Given the description of an element on the screen output the (x, y) to click on. 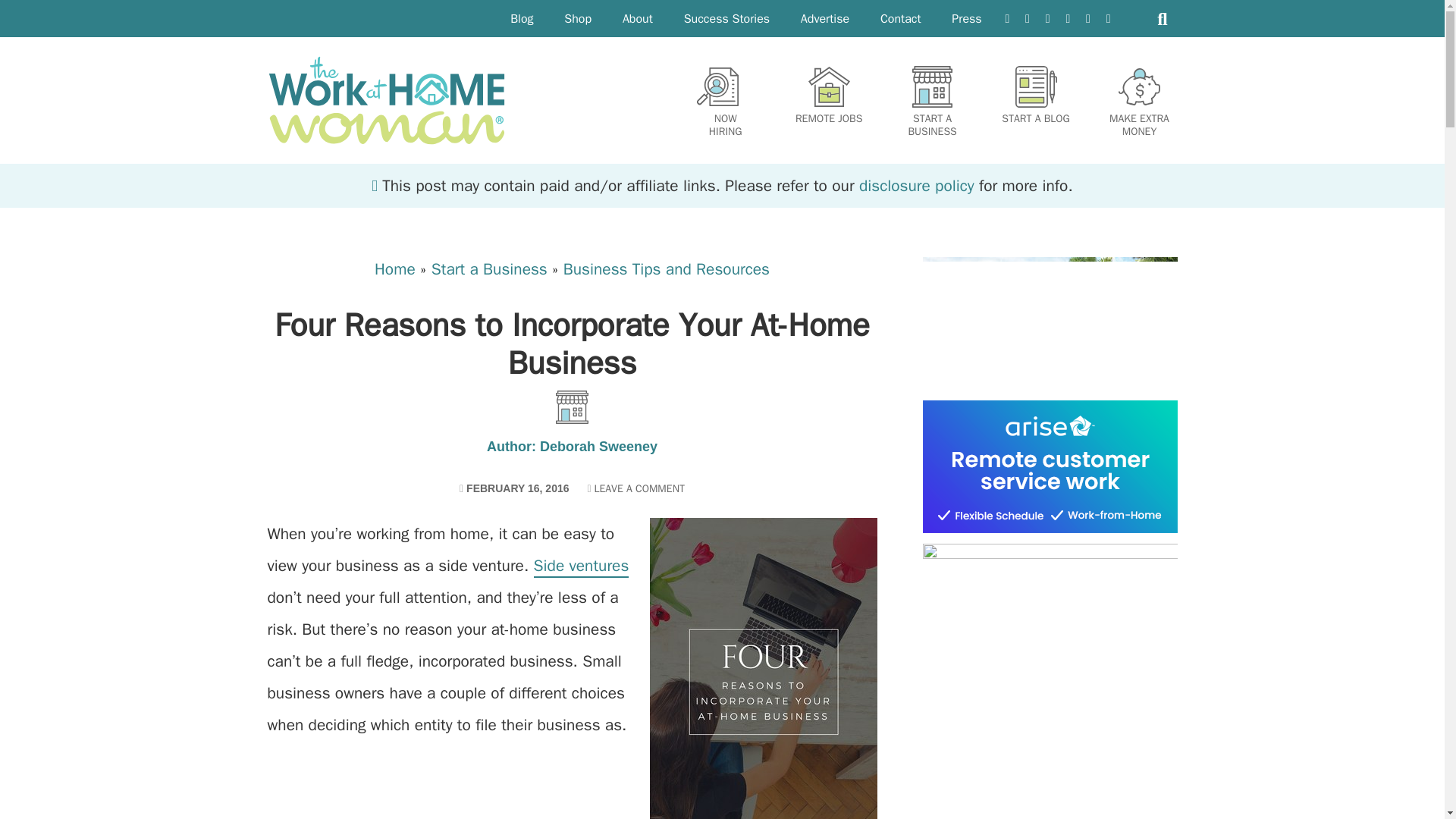
REMOTE JOBS (828, 96)
Press Page (965, 18)
Advertise (825, 18)
START A BUSINESS (724, 102)
Advertise (933, 102)
Press (825, 18)
Contact (965, 18)
Success Stories (901, 18)
START A BLOG (727, 18)
